Given the description of an element on the screen output the (x, y) to click on. 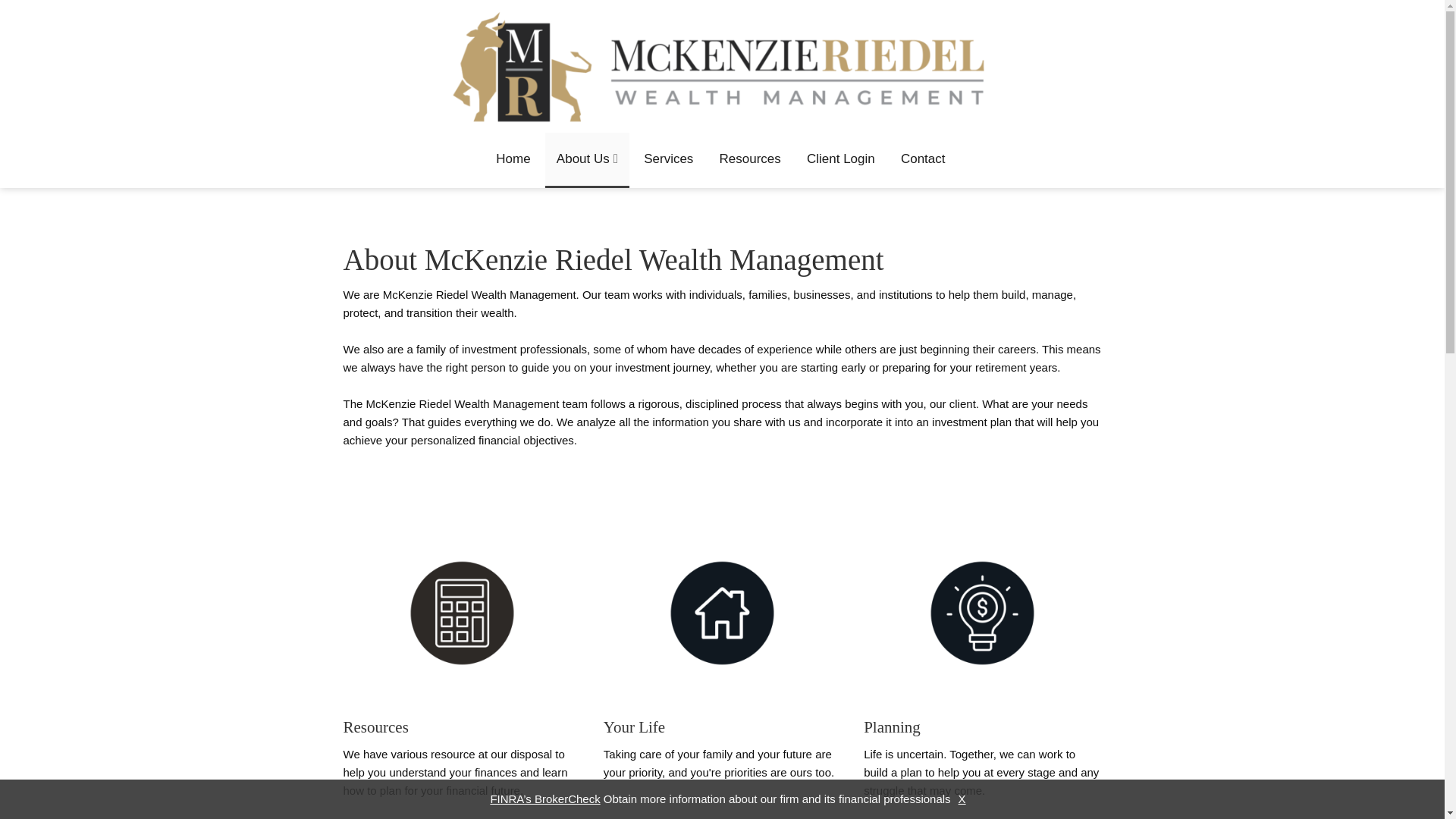
About Us (586, 160)
Services (667, 159)
Resources (749, 159)
Home (512, 159)
Contact (922, 159)
Client Login (840, 159)
X (958, 799)
